Given the description of an element on the screen output the (x, y) to click on. 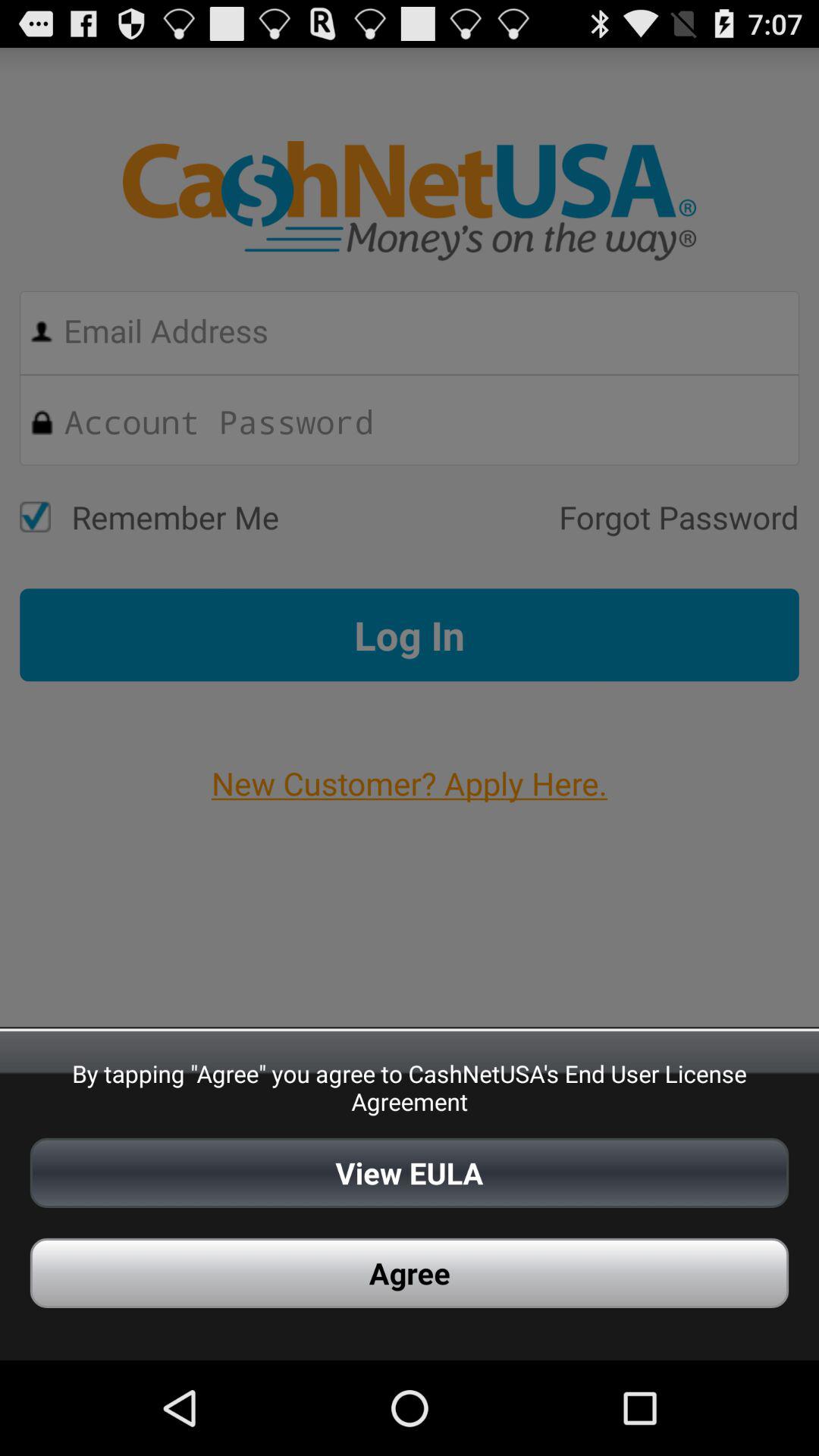
press the item below by tapping agree (409, 1173)
